Given the description of an element on the screen output the (x, y) to click on. 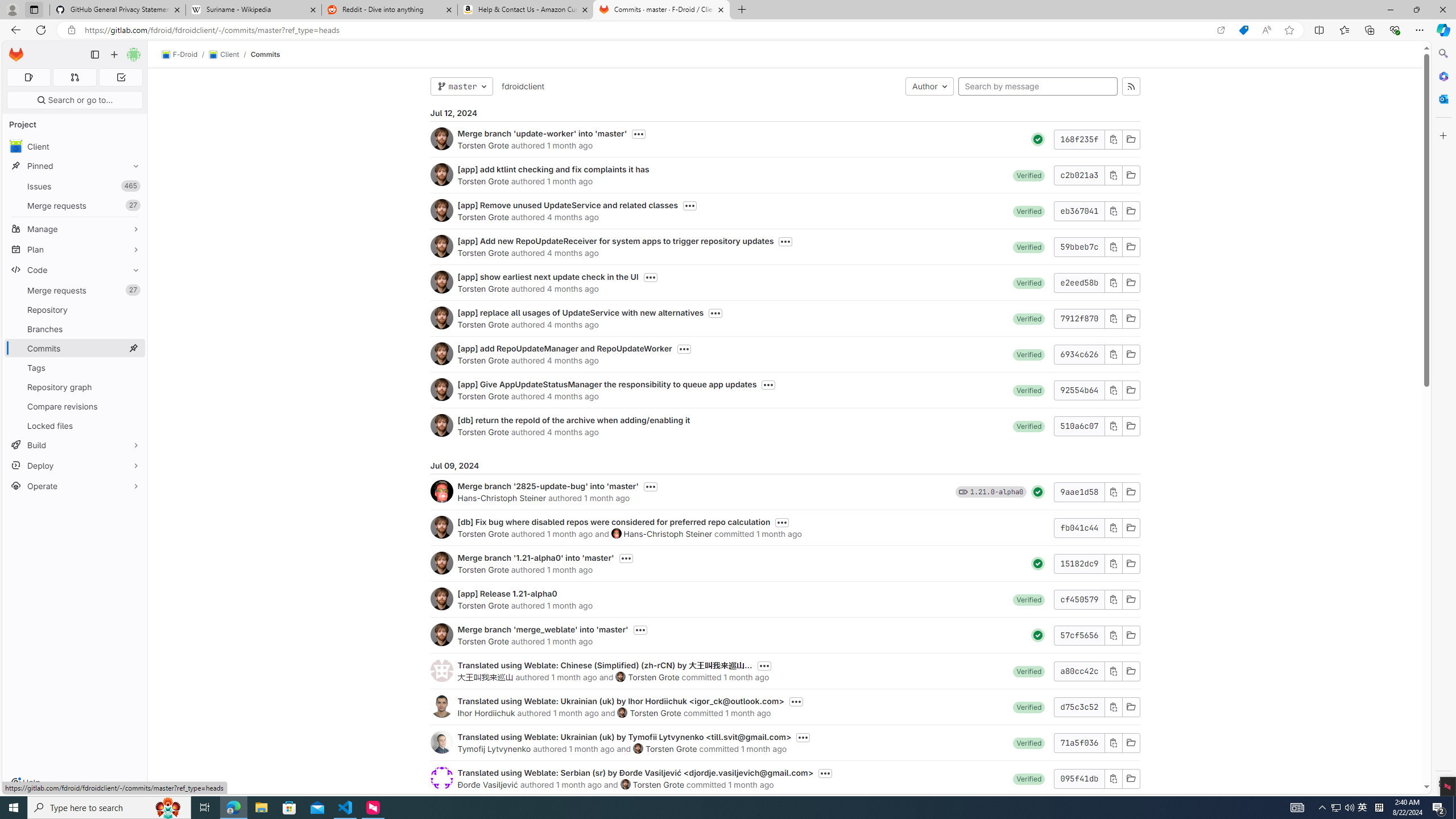
Operate (74, 485)
Compare revisions (74, 406)
GitHub General Privacy Statement - GitHub Docs (117, 9)
Jul 12, 2024 (784, 113)
Merge branch 'merge_weblate' into 'master' (542, 628)
Pin Commits (132, 348)
